Given the description of an element on the screen output the (x, y) to click on. 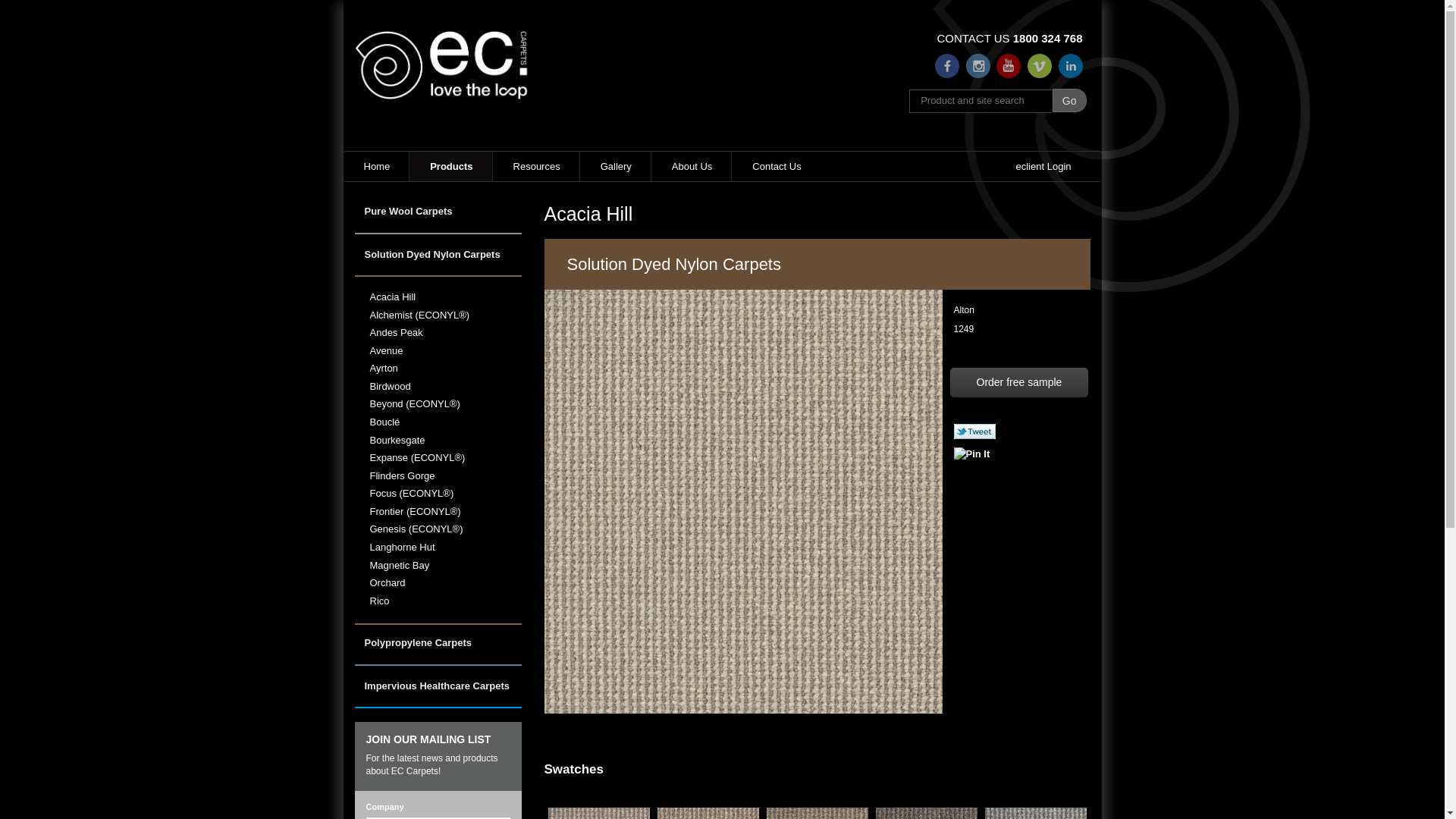
Pure Wool Carpets Element type: text (437, 219)
Resources Element type: text (535, 166)
Rico Element type: text (445, 601)
Magnetic Bay Element type: text (445, 565)
Polypropylene Carpets Element type: text (437, 650)
Order free sample Element type: text (1018, 382)
Go Element type: text (1069, 100)
Acacia Hill Element type: text (445, 297)
Birdwood Element type: text (445, 386)
Gallery Element type: text (615, 166)
Home Element type: text (375, 166)
Langhorne Hut Element type: text (445, 547)
alton_1249 Element type: hover (756, 501)
Orchard Element type: text (445, 583)
Contact Us Element type: text (775, 166)
Flinders Gorge Element type: text (445, 476)
alton_1249 Element type: hover (756, 504)
eclient Login Element type: text (1041, 166)
Solution Dyed Nylon Carpets Element type: text (437, 262)
1800 324 768 Element type: text (1047, 37)
Avenue Element type: text (445, 351)
Andes Peak Element type: text (445, 333)
Products Element type: text (450, 166)
Impervious Healthcare Carpets Element type: text (437, 694)
Bourkesgate Element type: text (445, 440)
Contact us for more information Element type: text (100, 15)
Pin It Element type: hover (971, 454)
Ayrton Element type: text (445, 368)
About Us Element type: text (691, 166)
